Given the description of an element on the screen output the (x, y) to click on. 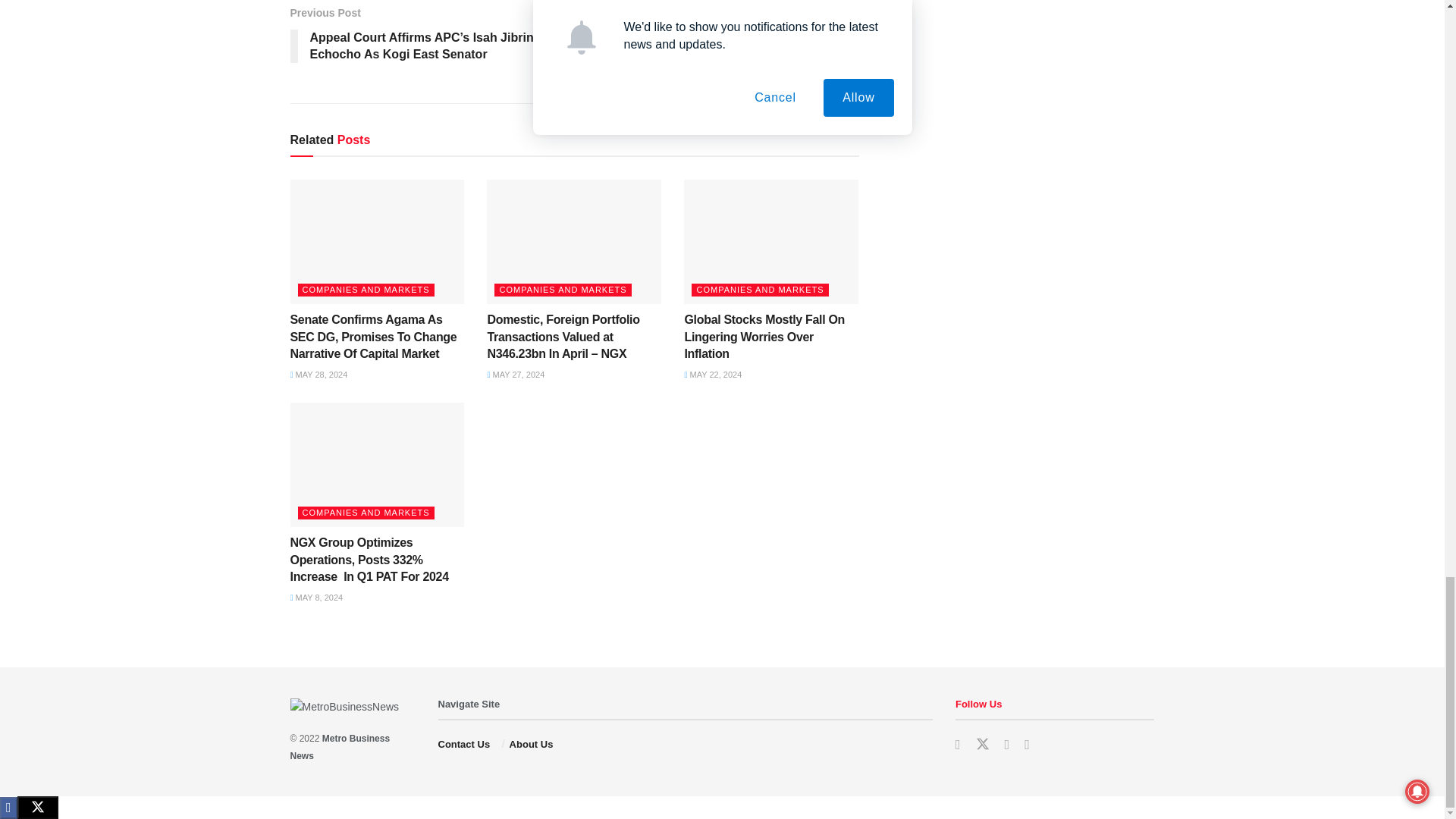
metrobusinessnews (339, 746)
metrobusinessnews (469, 704)
